Given the description of an element on the screen output the (x, y) to click on. 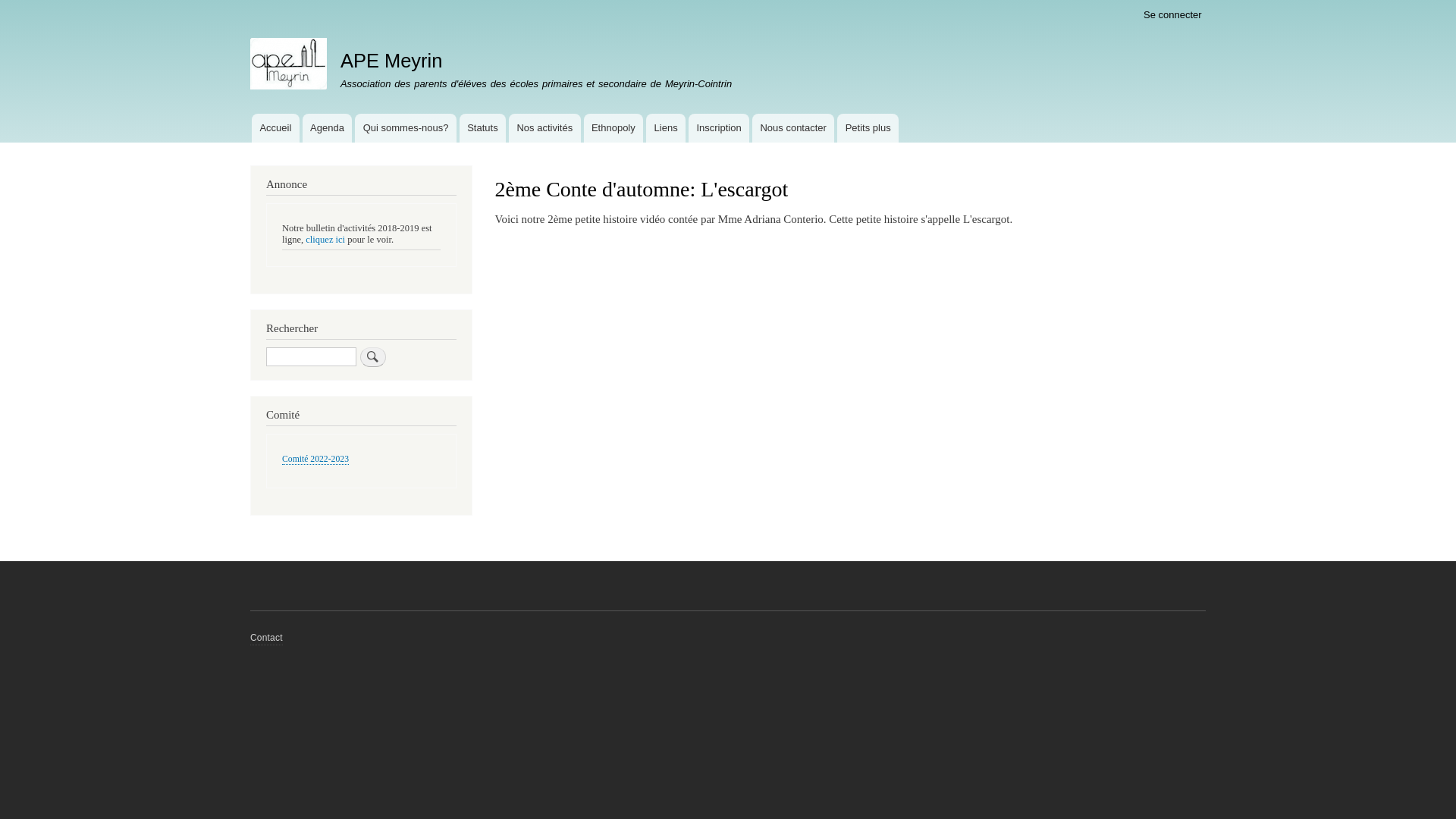
APE Meyrin Element type: text (391, 60)
Accueil Element type: text (275, 127)
Rechercher Element type: text (372, 357)
Ethnopoly Element type: text (613, 127)
Liens Element type: text (665, 127)
Contact Element type: text (266, 637)
Statuts Element type: text (482, 127)
Aller au contenu principal Element type: text (728, 1)
Inscription Element type: text (718, 127)
Agenda Element type: text (327, 127)
Se connecter Element type: text (1172, 15)
Petits plus Element type: text (867, 127)
Qui sommes-nous? Element type: text (405, 127)
Nous contacter Element type: text (793, 127)
cliquez ici Element type: text (325, 239)
